Given the description of an element on the screen output the (x, y) to click on. 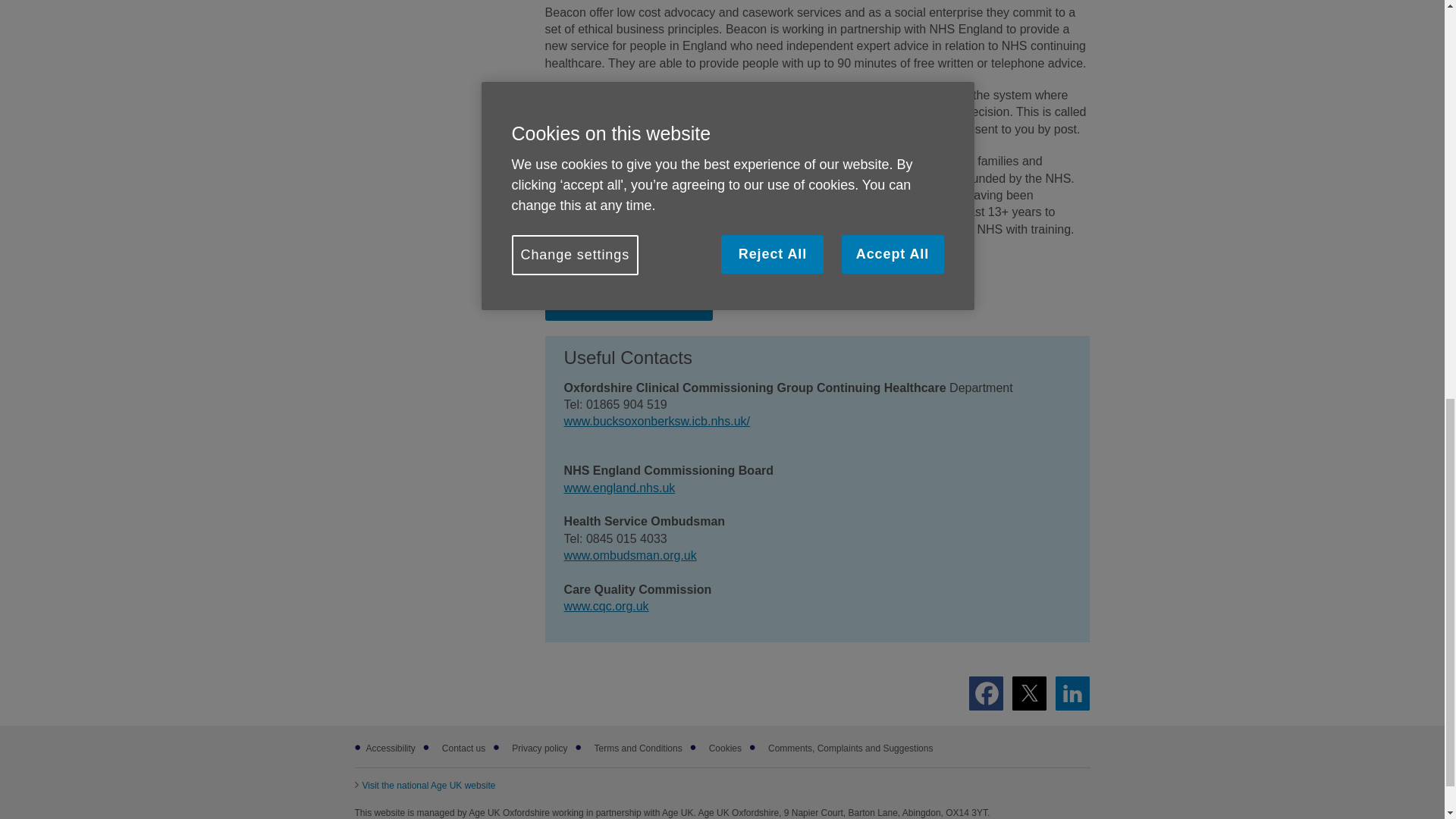
opens in a new window (425, 785)
Share (1072, 693)
Tweet (1028, 693)
